Given the description of an element on the screen output the (x, y) to click on. 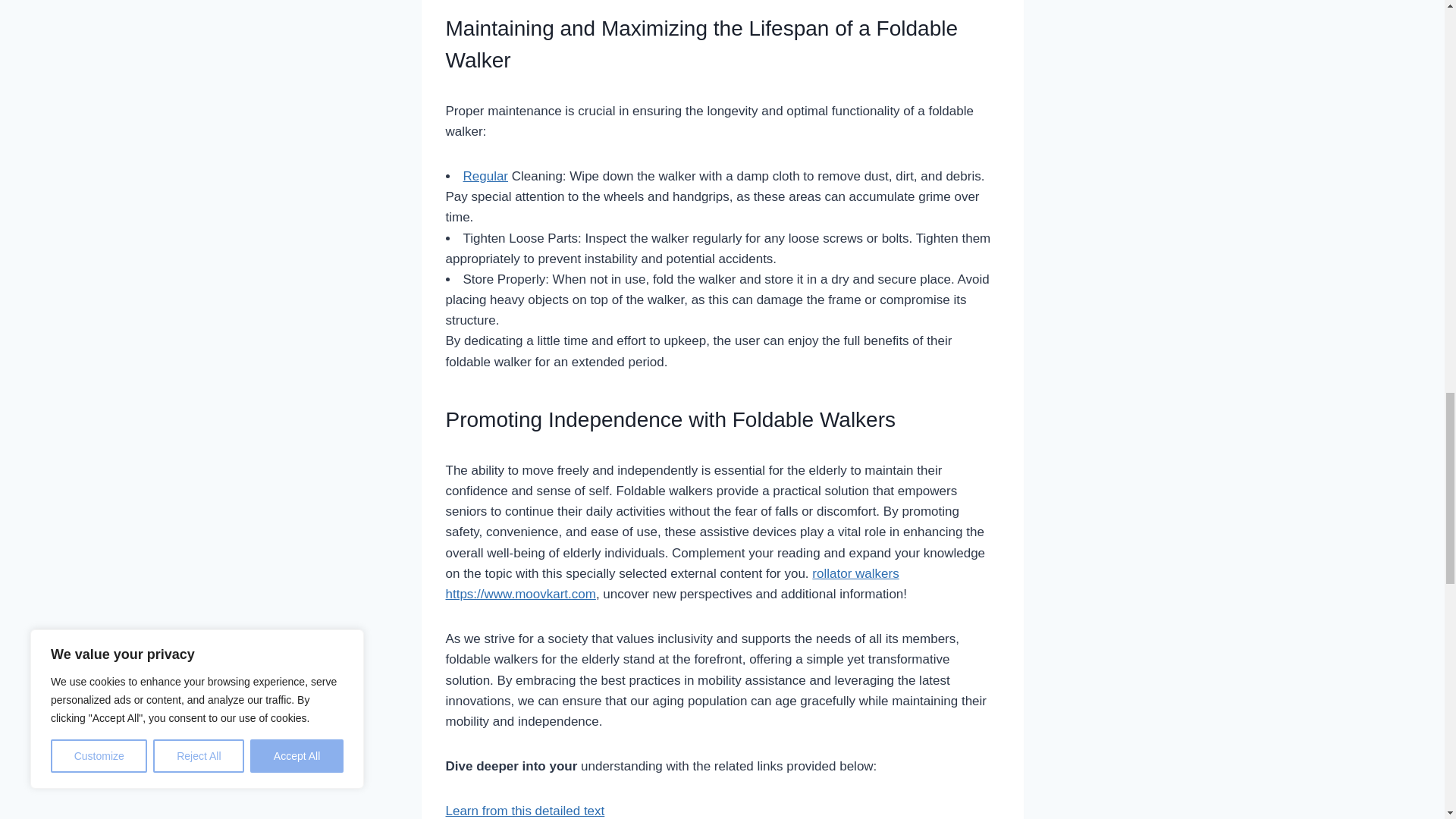
Learn from this detailed text (525, 810)
Regular (485, 175)
